Given the description of an element on the screen output the (x, y) to click on. 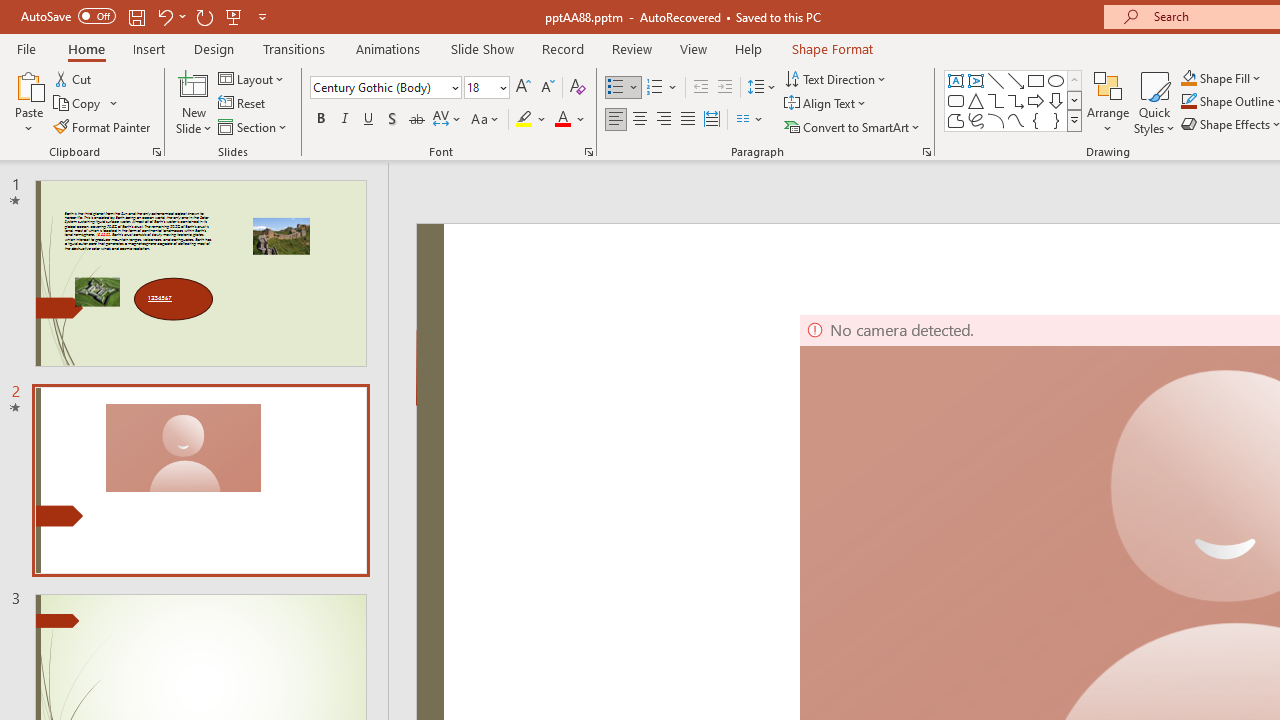
Shape Fill Aqua, Accent 2 (1188, 78)
